Given the description of an element on the screen output the (x, y) to click on. 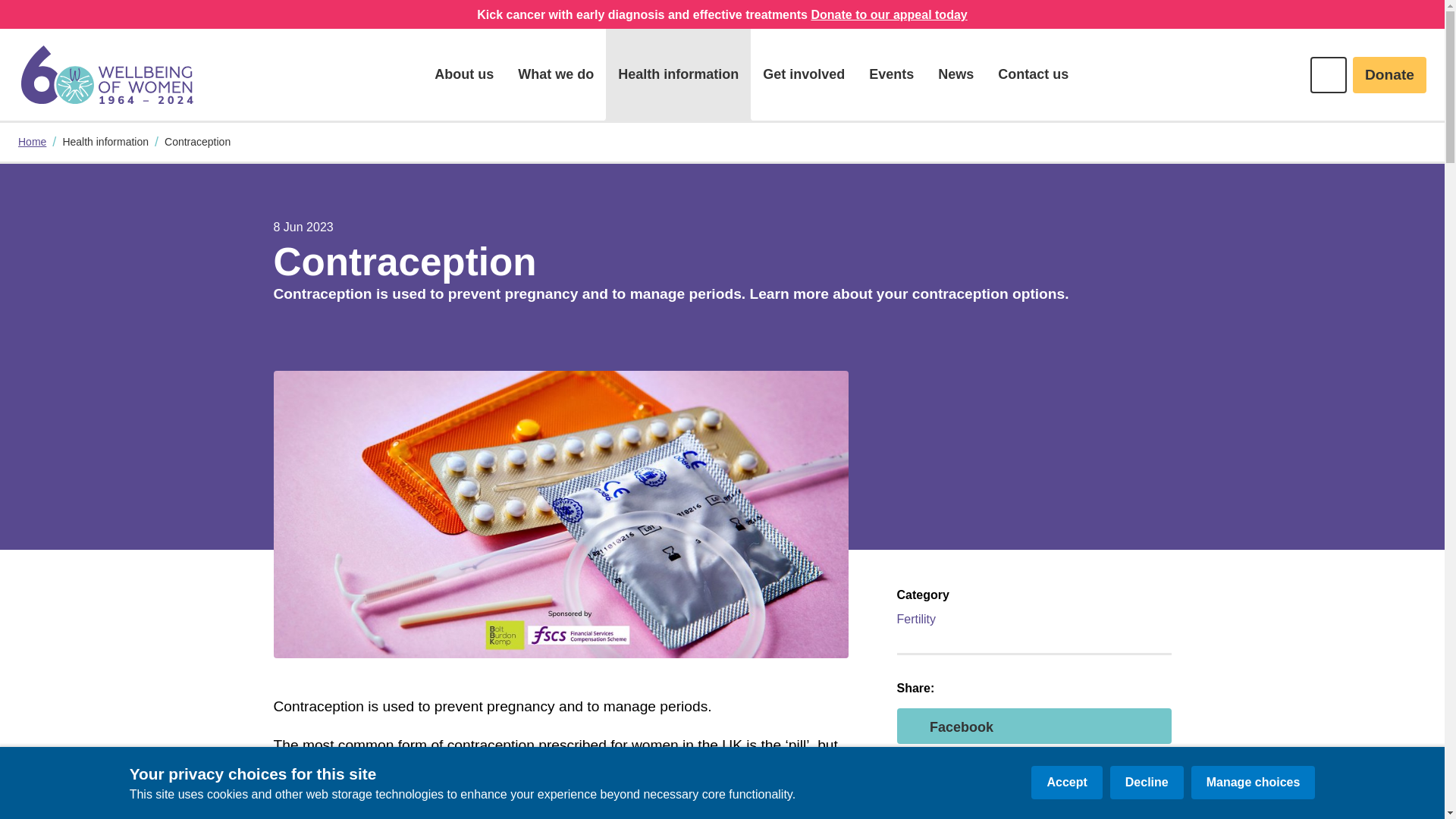
Home (107, 74)
Get involved (804, 73)
Contraception (197, 141)
About us (463, 73)
Donate to our appeal today (888, 14)
What we do (555, 73)
Contact us (1032, 73)
Health information (105, 141)
Donate (1389, 74)
Health information (678, 73)
